Given the description of an element on the screen output the (x, y) to click on. 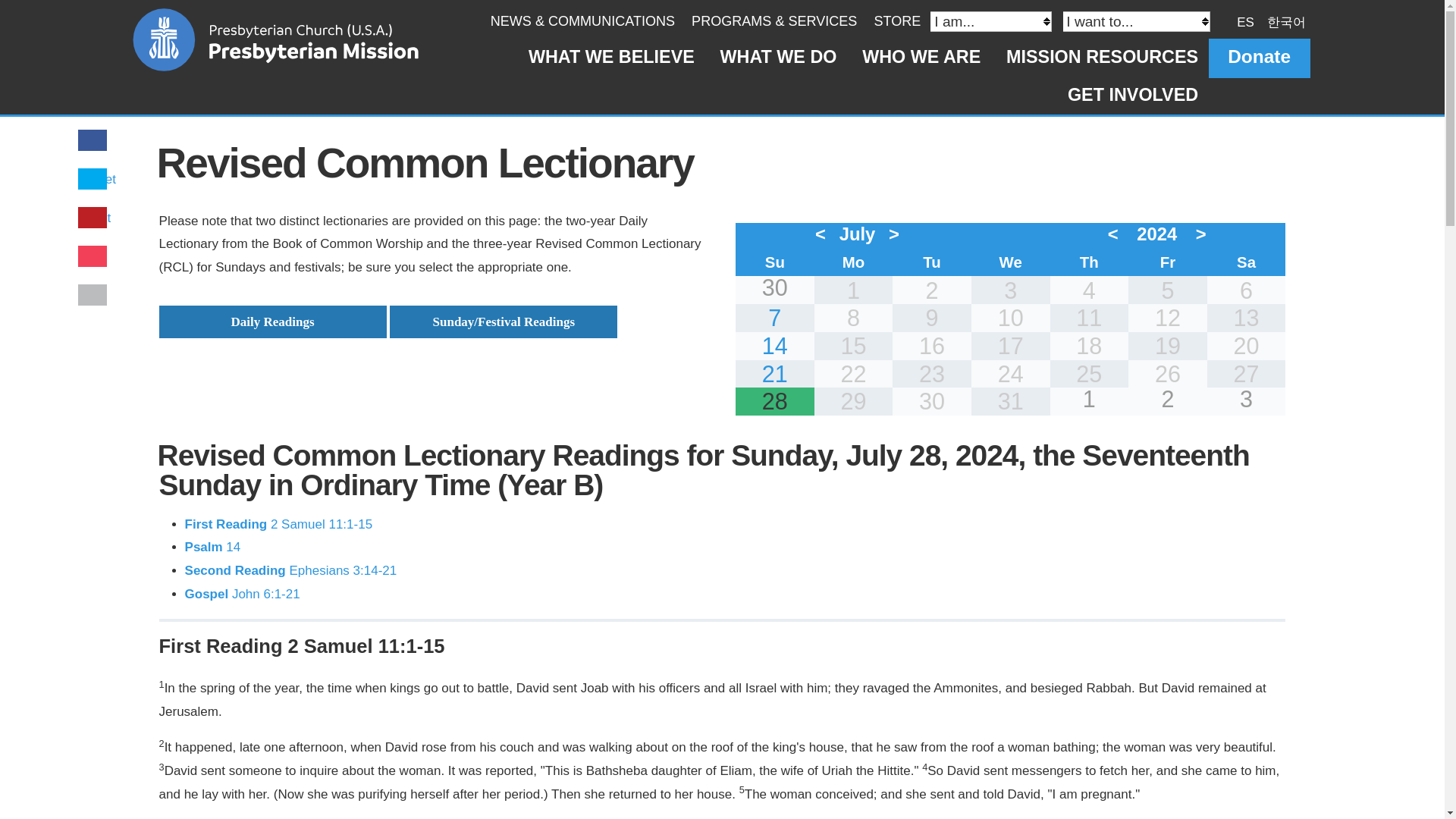
Last Year (1115, 233)
Share on Facebook (92, 140)
Pin It (96, 217)
Share on Twitter (98, 178)
STORE (896, 20)
ES (1245, 22)
